Given the description of an element on the screen output the (x, y) to click on. 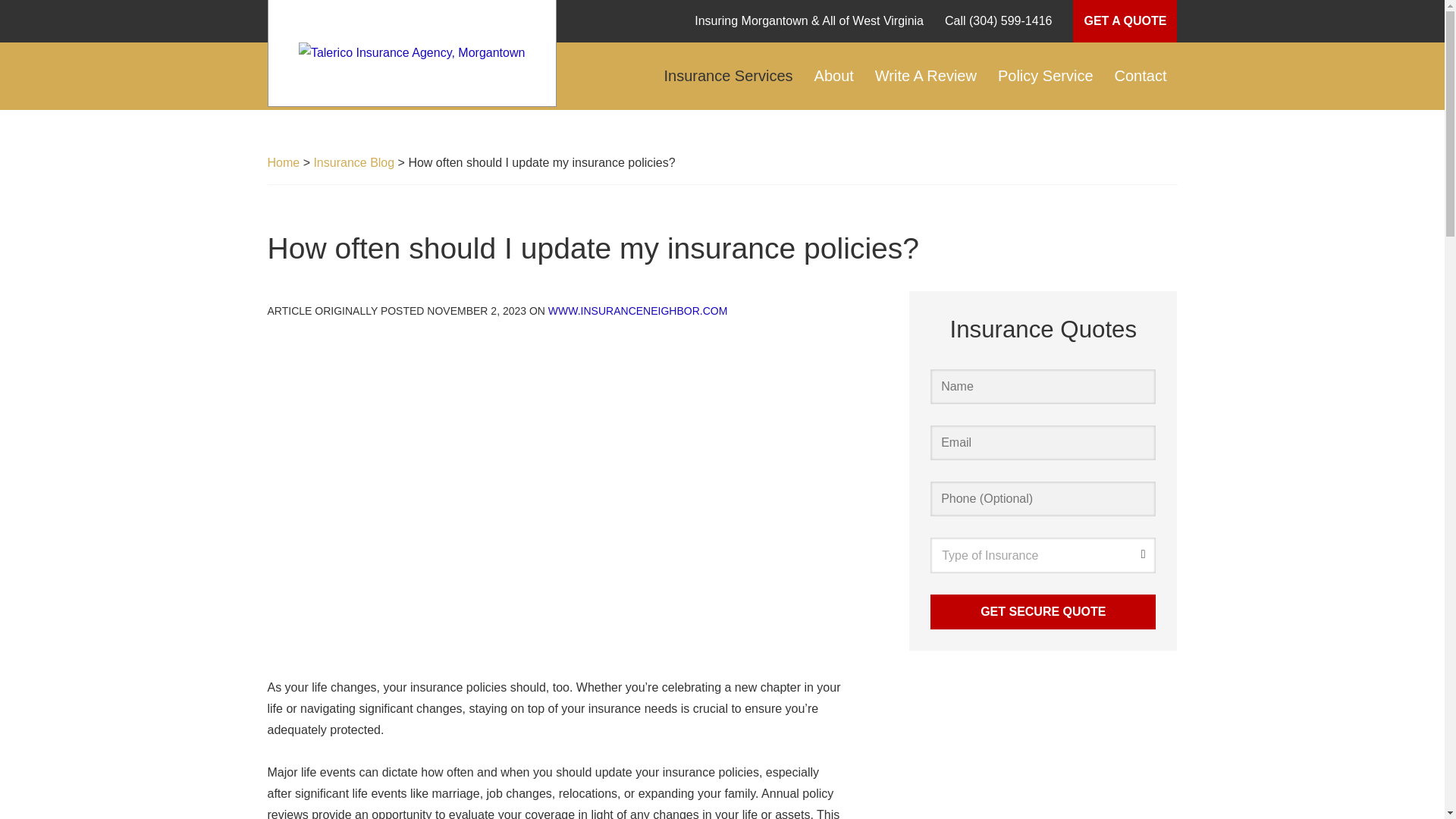
Insurance Services (727, 76)
Talerico Insurance Agency, Morgantown (411, 52)
About (833, 76)
GET A QUOTE (1124, 21)
Get Secure Quote (1043, 611)
